Given the description of an element on the screen output the (x, y) to click on. 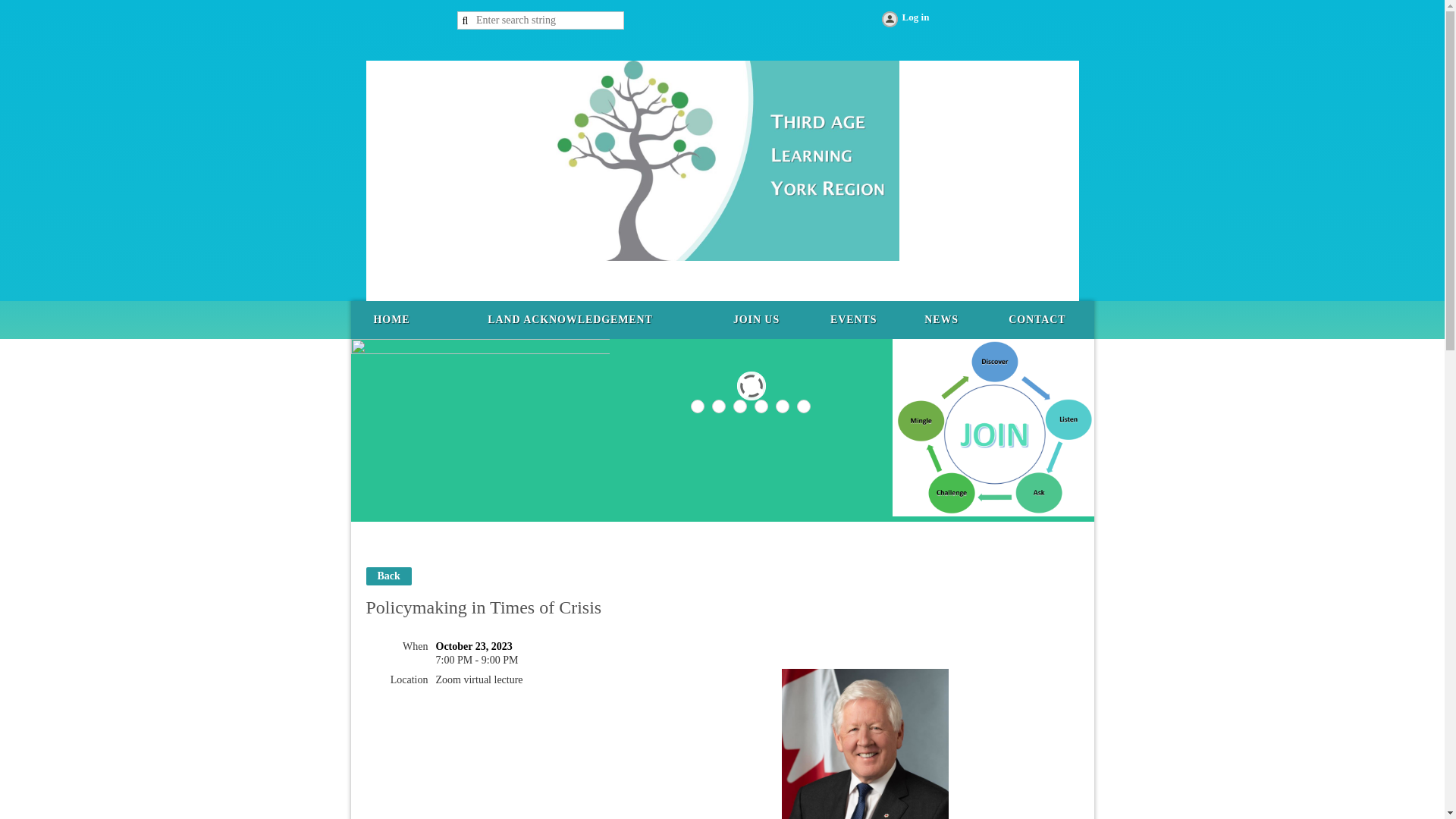
EVENTS (853, 320)
Log in (904, 20)
JOIN US (756, 320)
Back (387, 576)
HOME (391, 320)
Join us (756, 320)
LAND ACKNOWLEDGEMENT (569, 320)
Land Acknowledgement (569, 320)
Events (853, 320)
NEWS (940, 320)
